Given the description of an element on the screen output the (x, y) to click on. 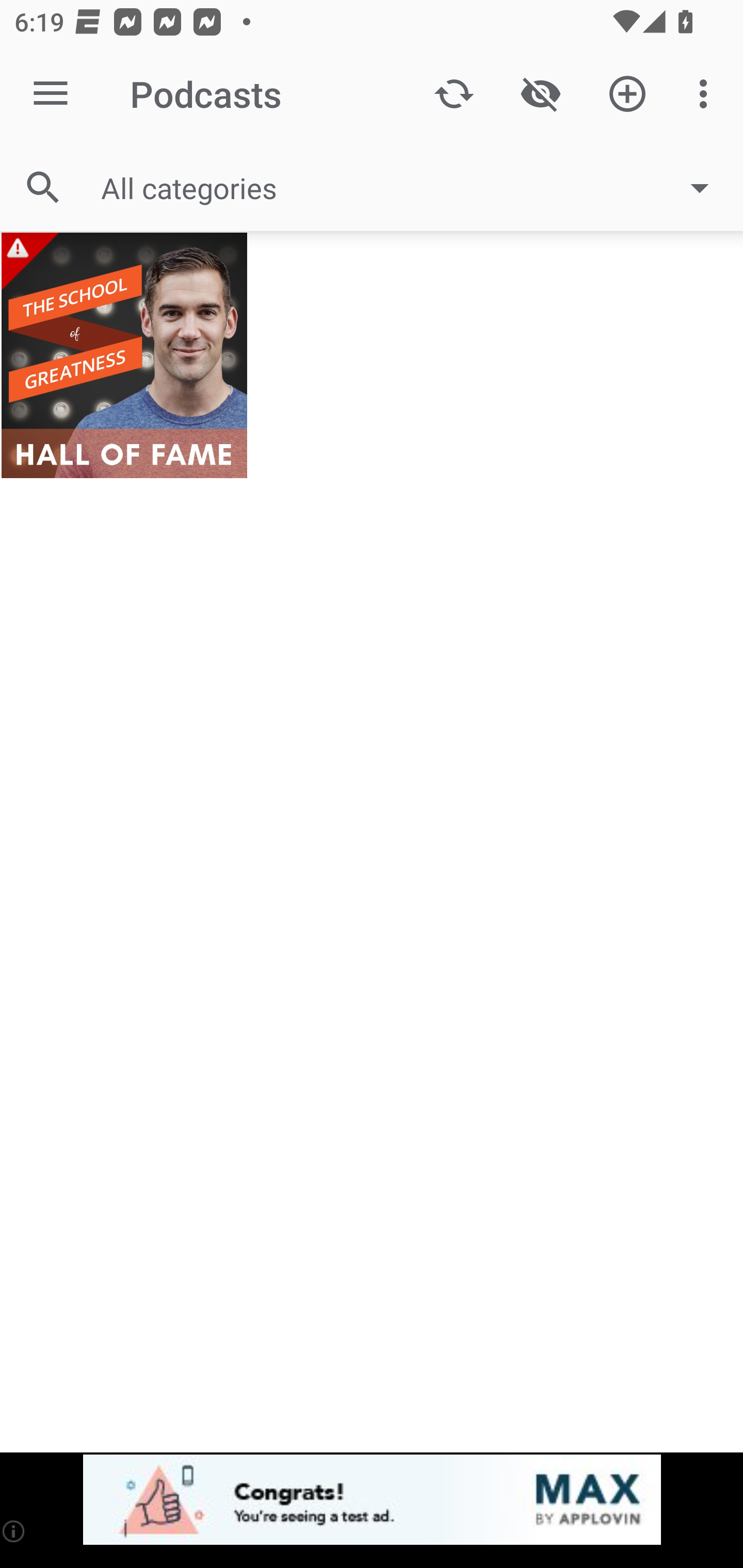
Open navigation sidebar (50, 93)
Update (453, 93)
Show / Hide played content (540, 93)
Add new Podcast (626, 93)
More options (706, 93)
Search (43, 187)
All categories (414, 188)
The School of Greatness Hall of Fame (124, 355)
app-monetization (371, 1500)
(i) (14, 1531)
